Given the description of an element on the screen output the (x, y) to click on. 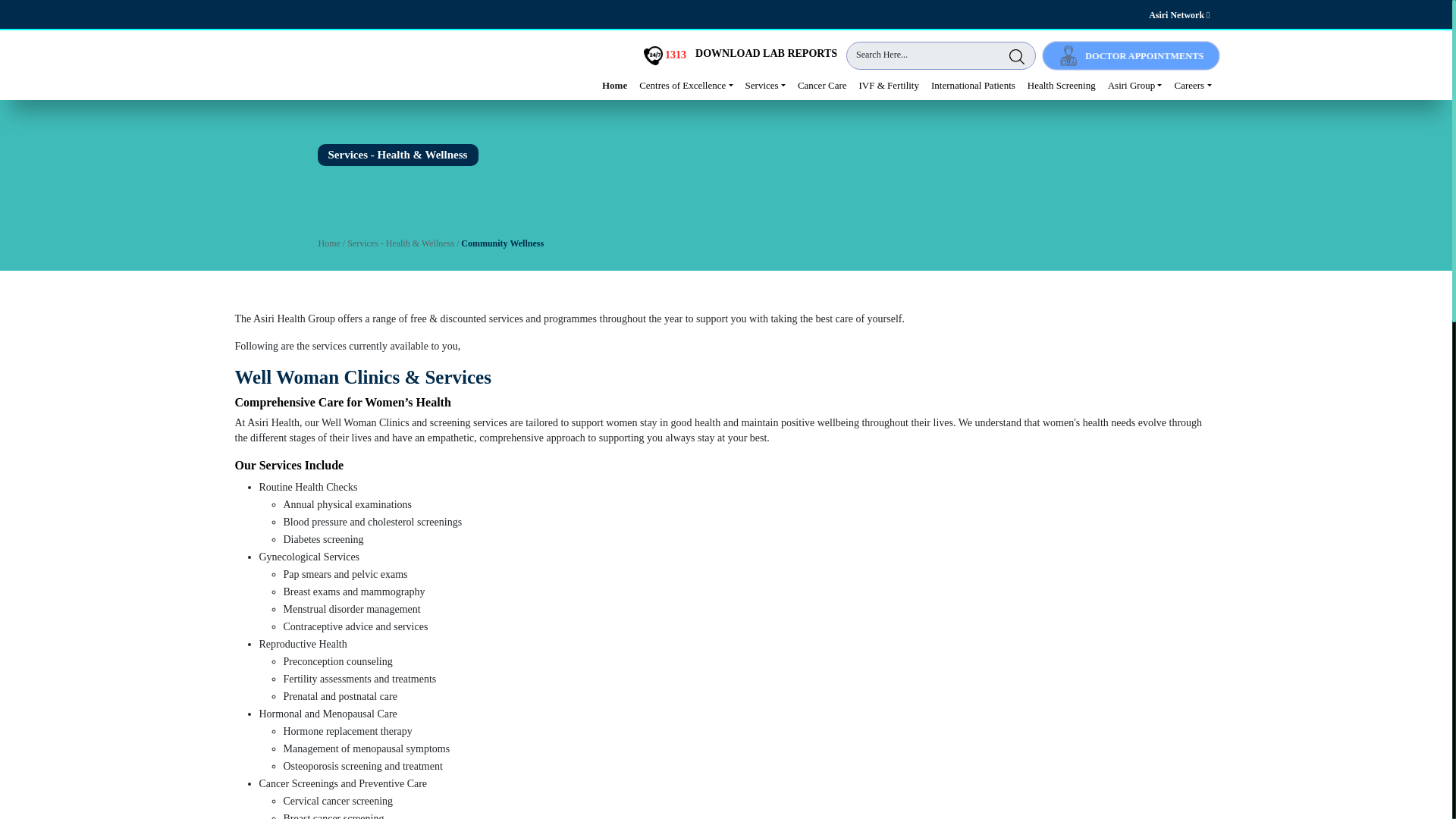
  DOCTOR APPOINTMENTS (1131, 55)
 1313 (665, 54)
DOWNLOAD LAB REPORTS (766, 53)
Centres of Excellence (685, 87)
Services (765, 87)
Home (614, 87)
